Given the description of an element on the screen output the (x, y) to click on. 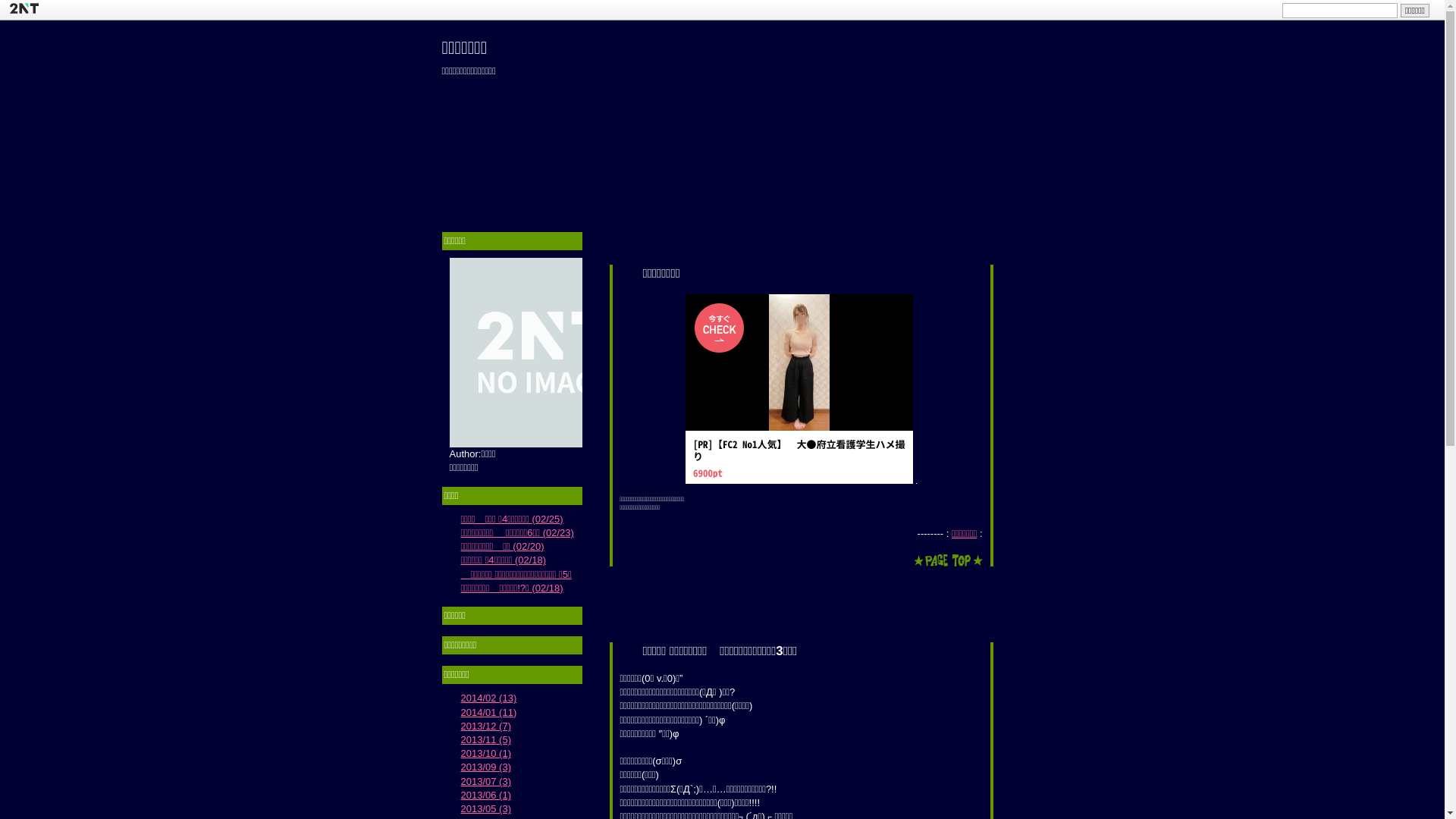
2013/06 (1) Element type: text (486, 794)
2013/09 (3) Element type: text (486, 766)
2014/02 (13) Element type: text (489, 697)
2013/05 (3) Element type: text (486, 808)
2013/11 (5) Element type: text (486, 739)
2014/01 (11) Element type: text (489, 712)
2013/10 (1) Element type: text (486, 753)
2013/07 (3) Element type: text (486, 781)
2013/12 (7) Element type: text (486, 725)
